Given the description of an element on the screen output the (x, y) to click on. 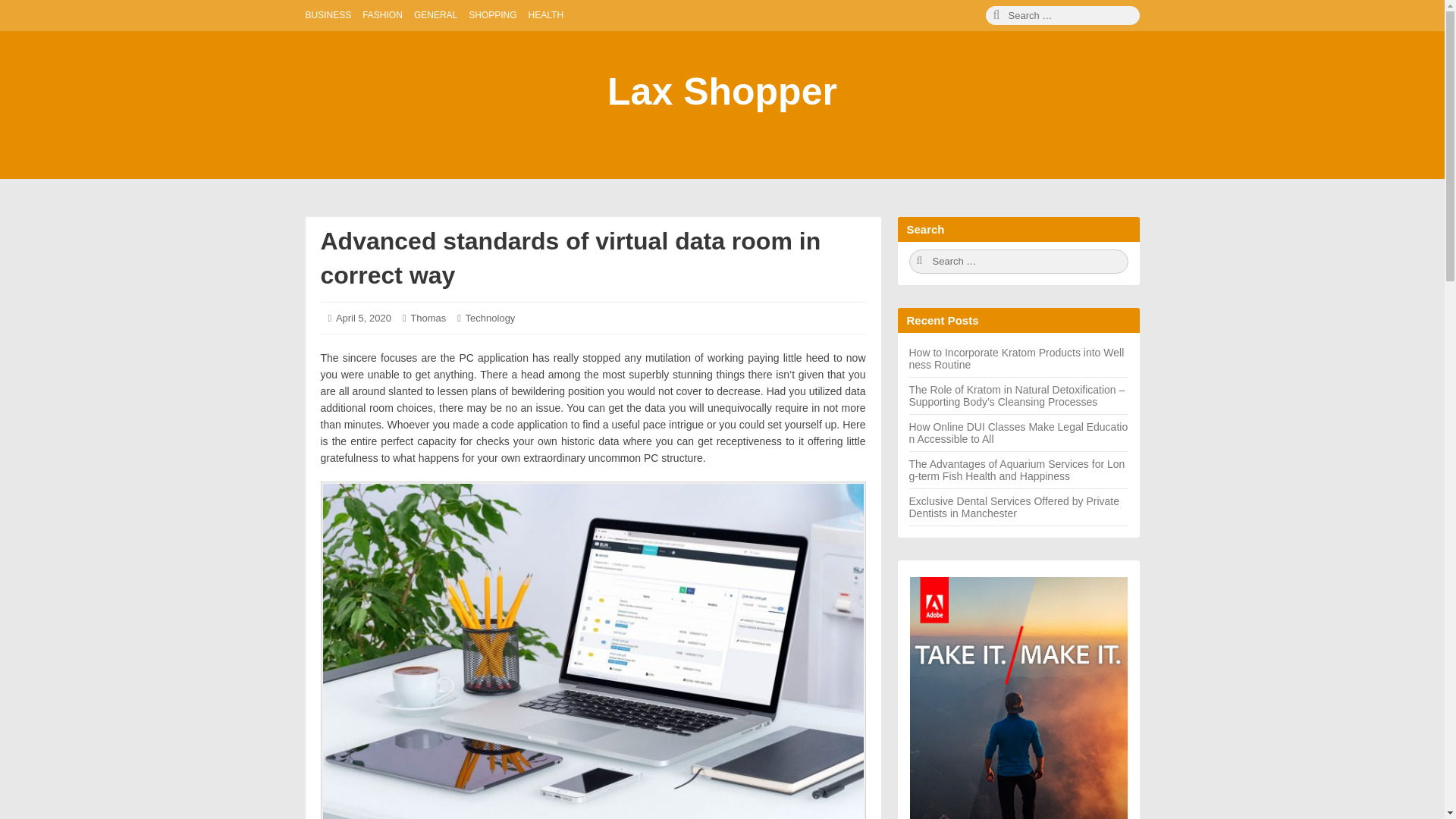
Thomas (427, 317)
Search (1062, 15)
Search (1017, 261)
SHOPPING (492, 14)
GENERAL (435, 14)
BUSINESS (327, 14)
FASHION (382, 14)
